Given the description of an element on the screen output the (x, y) to click on. 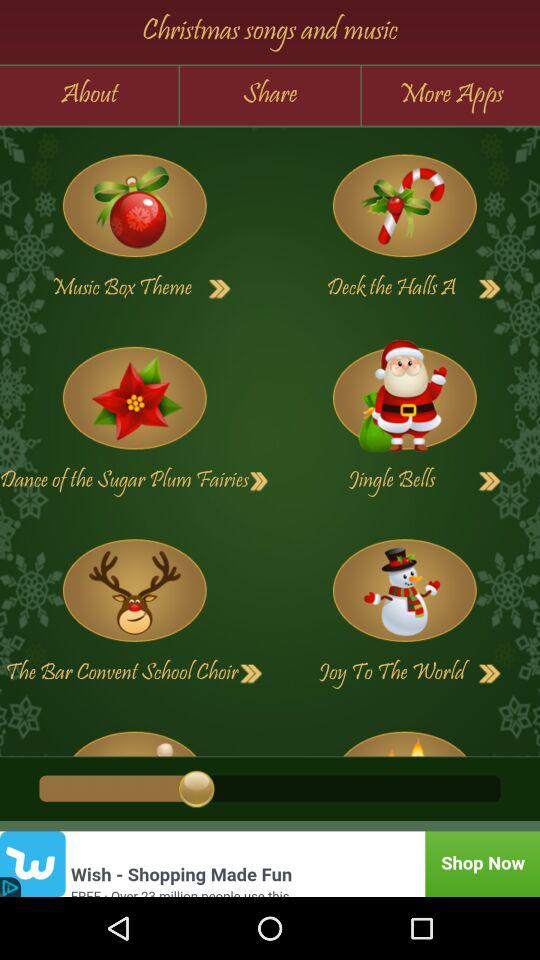
go to next stage (490, 673)
